Given the description of an element on the screen output the (x, y) to click on. 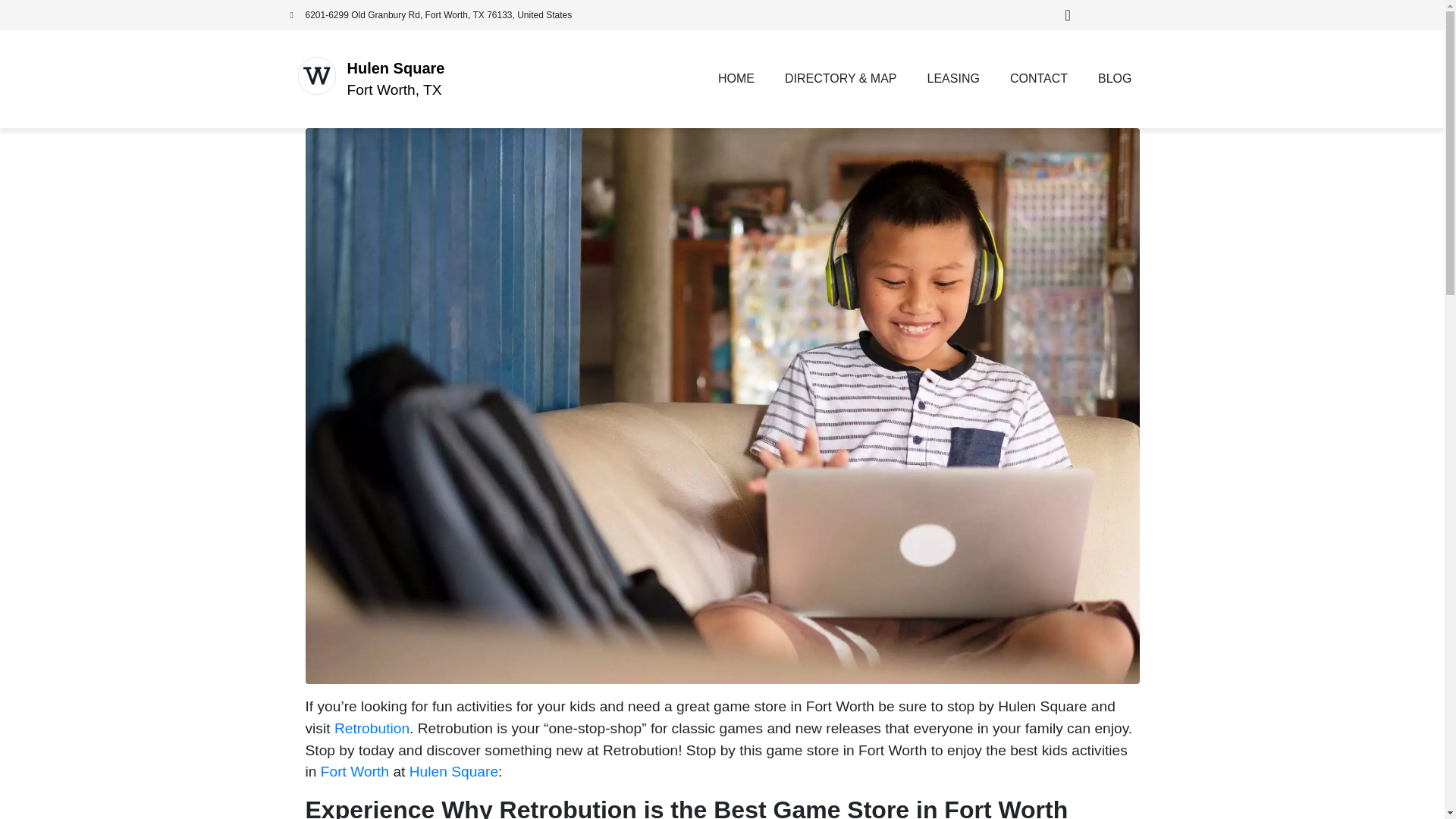
Hulen Square (396, 67)
HOME (736, 78)
CONTACT (1038, 78)
Hulen Square (453, 771)
LEASING (953, 78)
BLOG (1115, 78)
Retrobution (371, 728)
Fort Worth (354, 771)
